Given the description of an element on the screen output the (x, y) to click on. 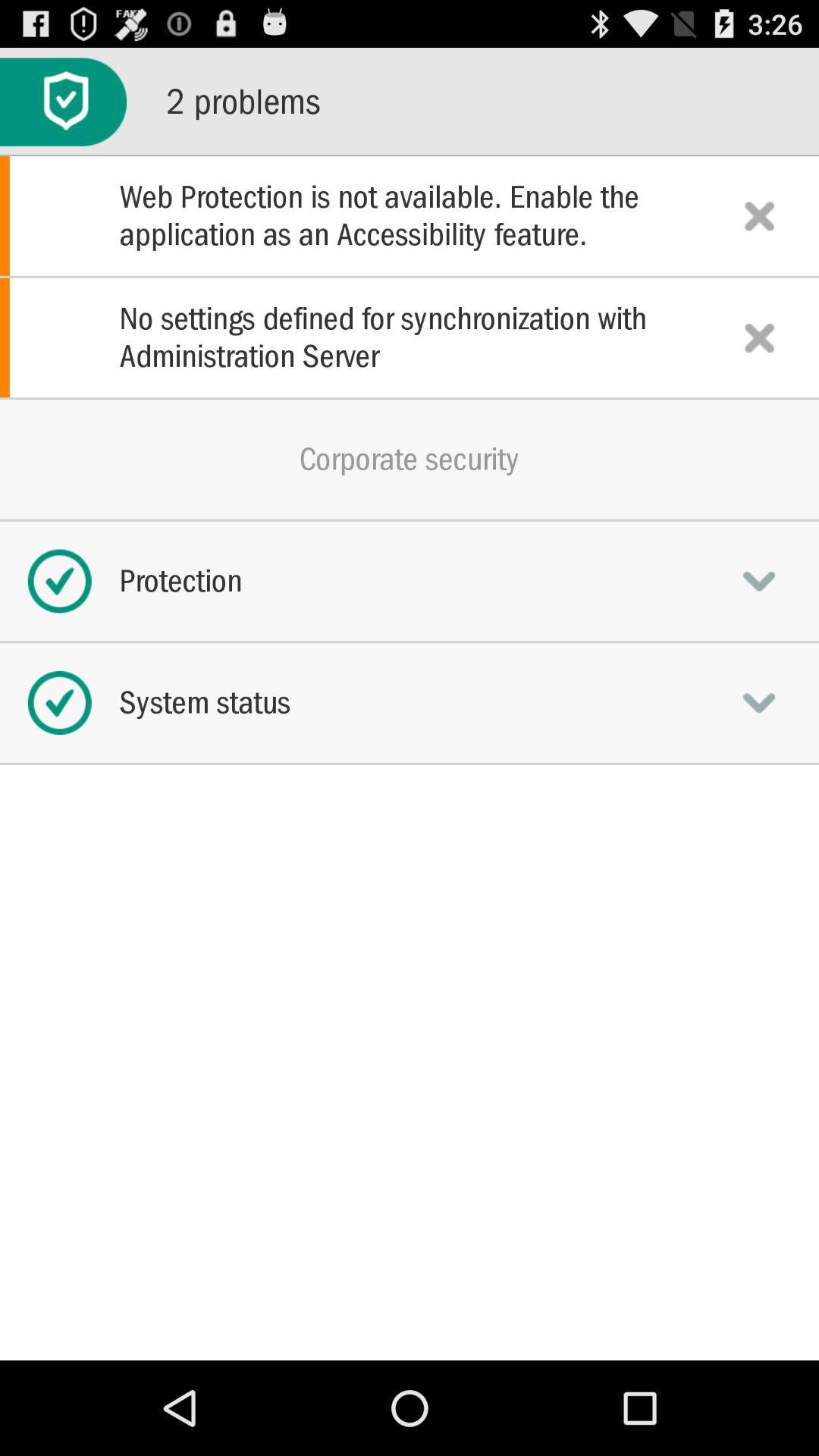
tap app above web protection is icon (63, 102)
